Given the description of an element on the screen output the (x, y) to click on. 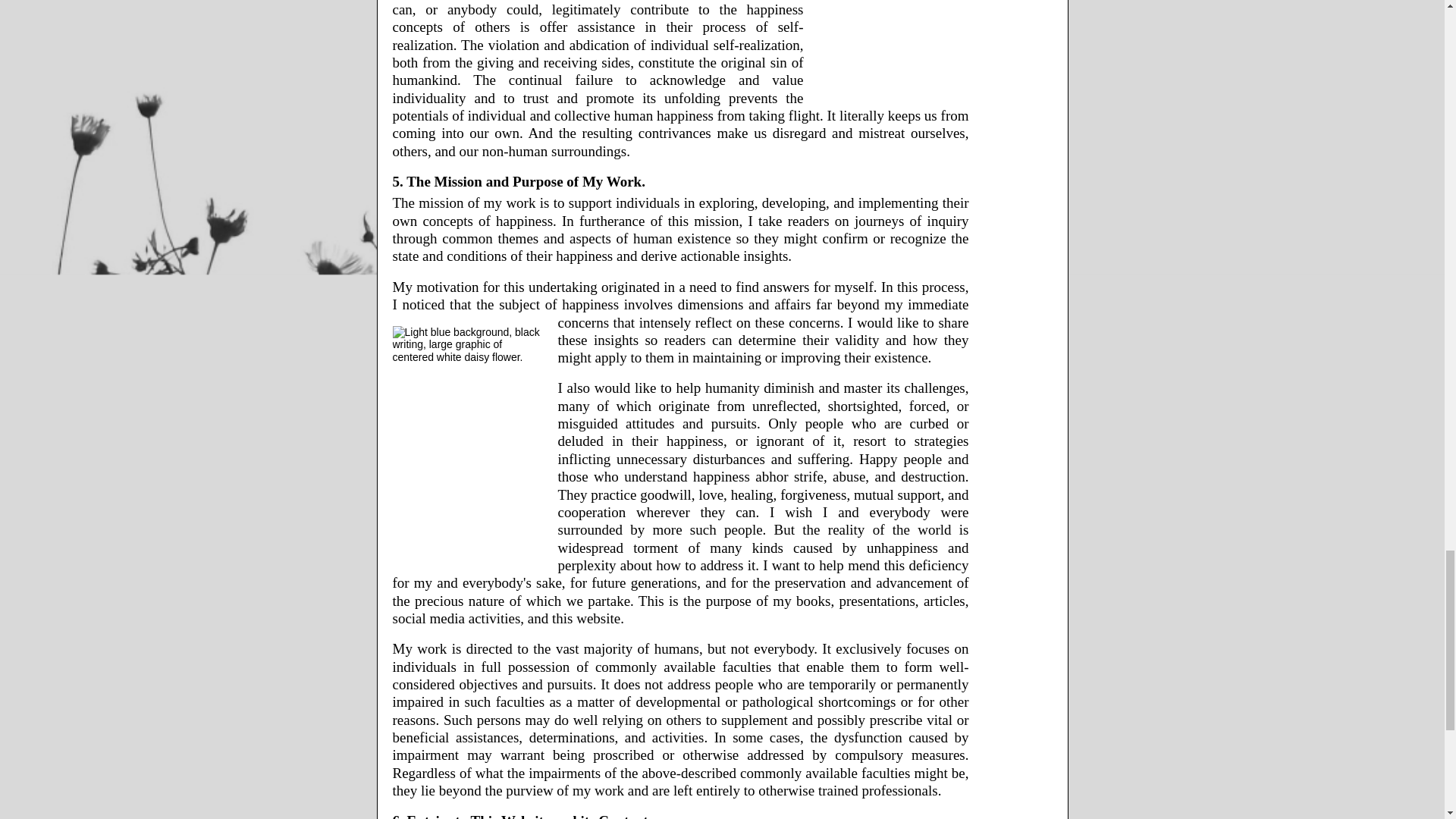
"Philosophic Reflections" E-Book Plate  (893, 48)
